Given the description of an element on the screen output the (x, y) to click on. 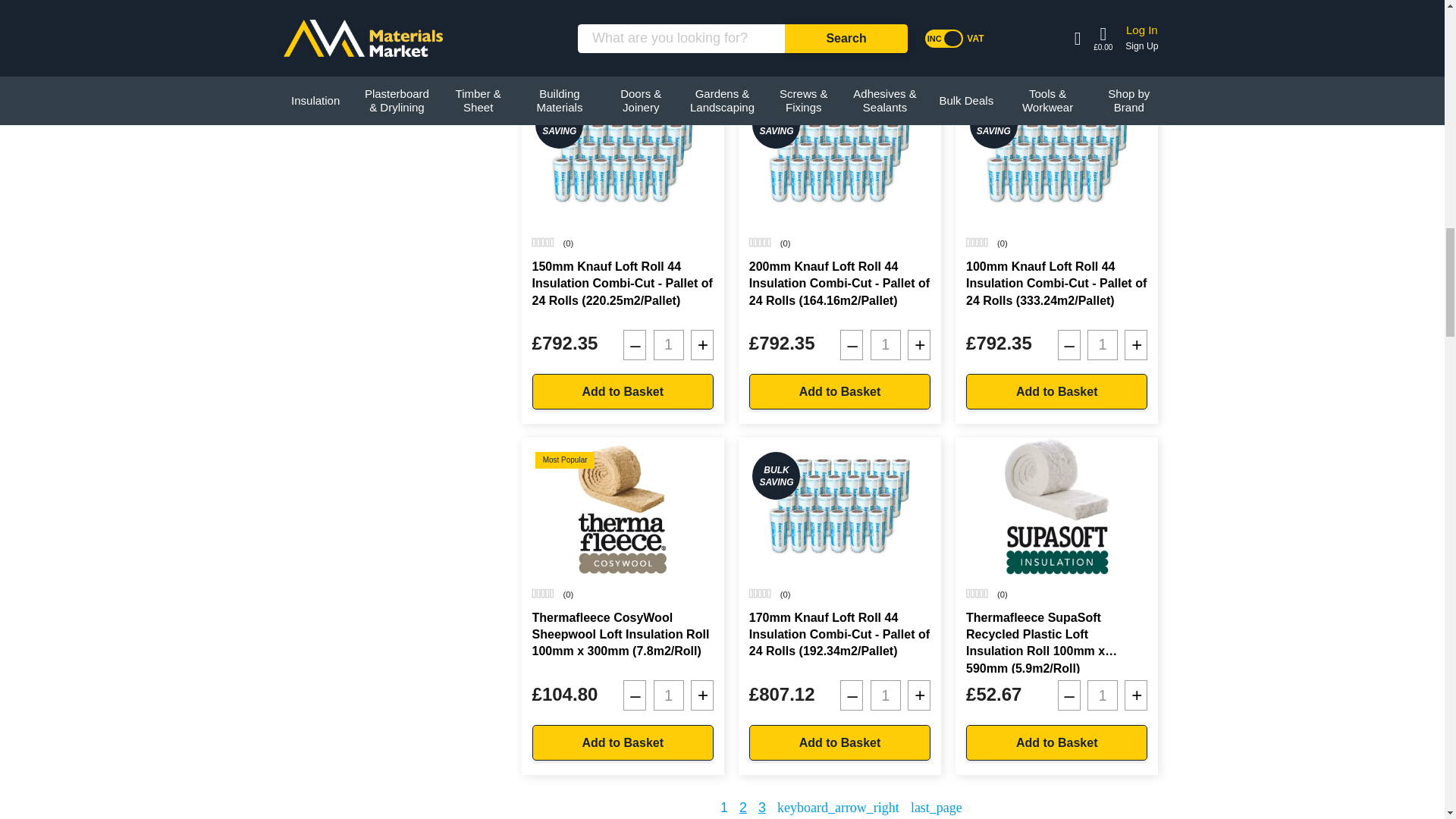
Qty (668, 4)
